Given the description of an element on the screen output the (x, y) to click on. 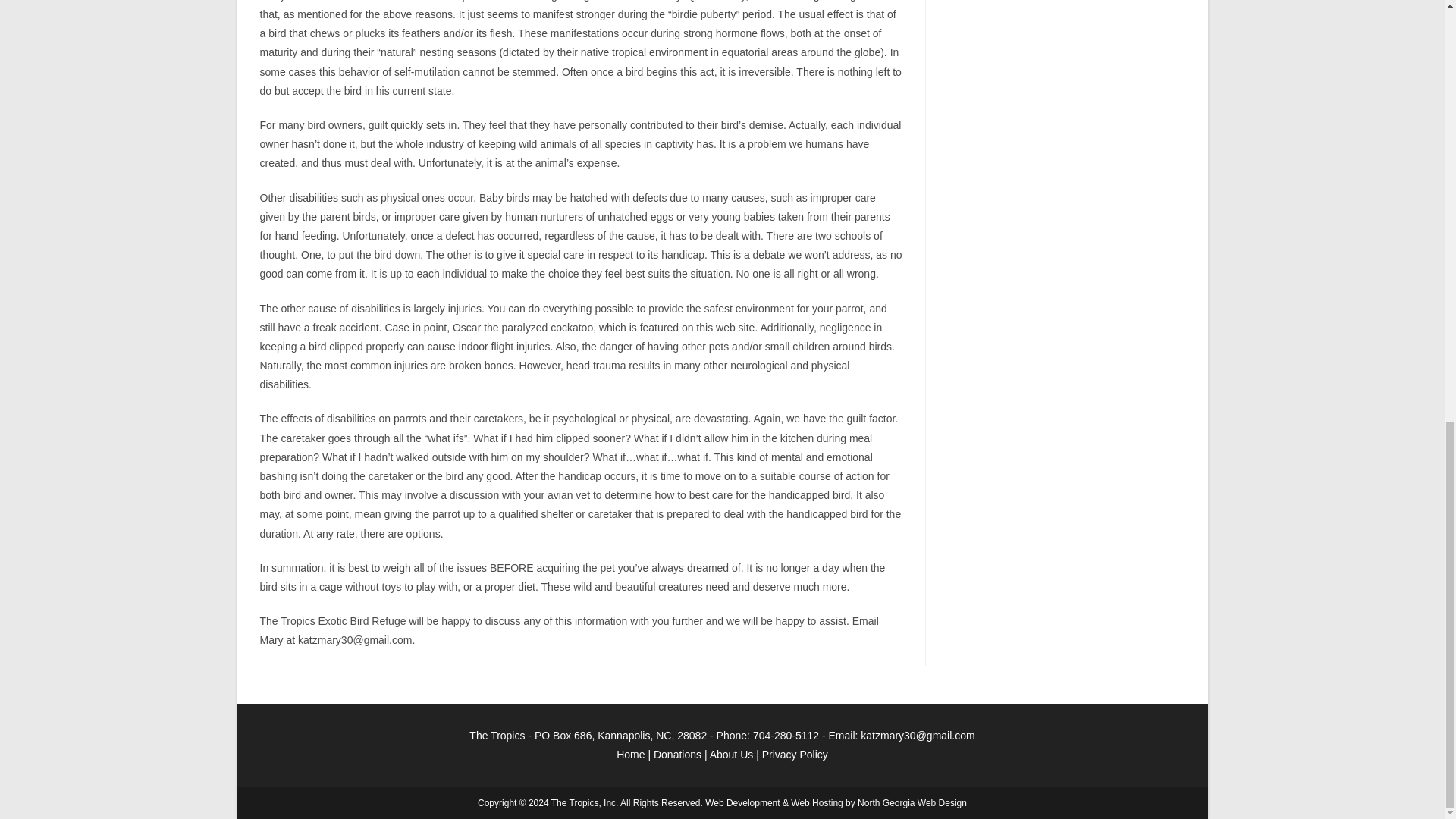
Donations (677, 754)
Home (630, 754)
About Us (732, 754)
Privacy Policy (794, 754)
